Given the description of an element on the screen output the (x, y) to click on. 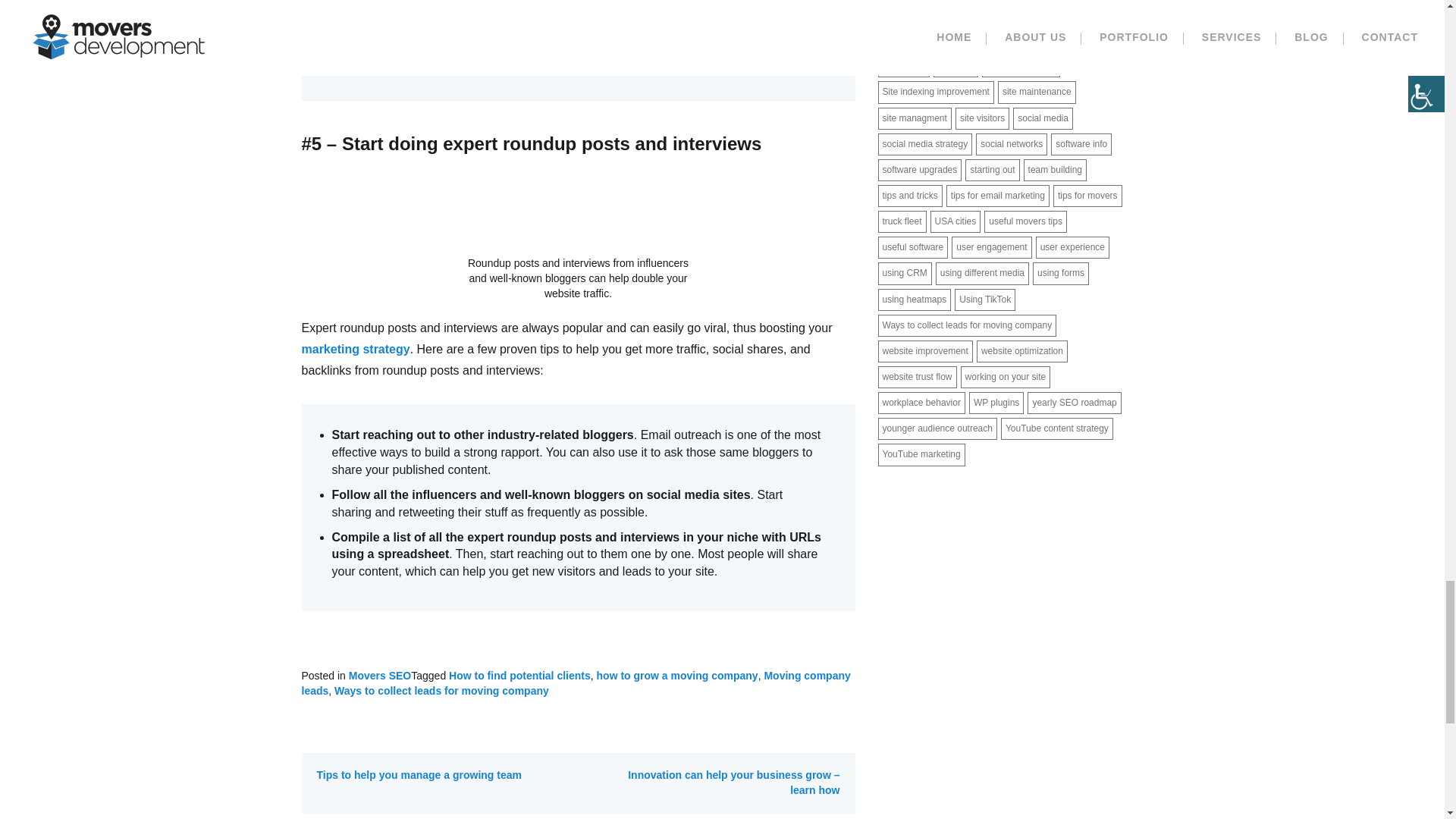
Ways to collect leads for moving company (441, 690)
marketing strategy (355, 349)
how to grow a moving company (677, 675)
Movers SEO (379, 675)
How to find potential clients (519, 675)
Moving company leads (575, 682)
